Given the description of an element on the screen output the (x, y) to click on. 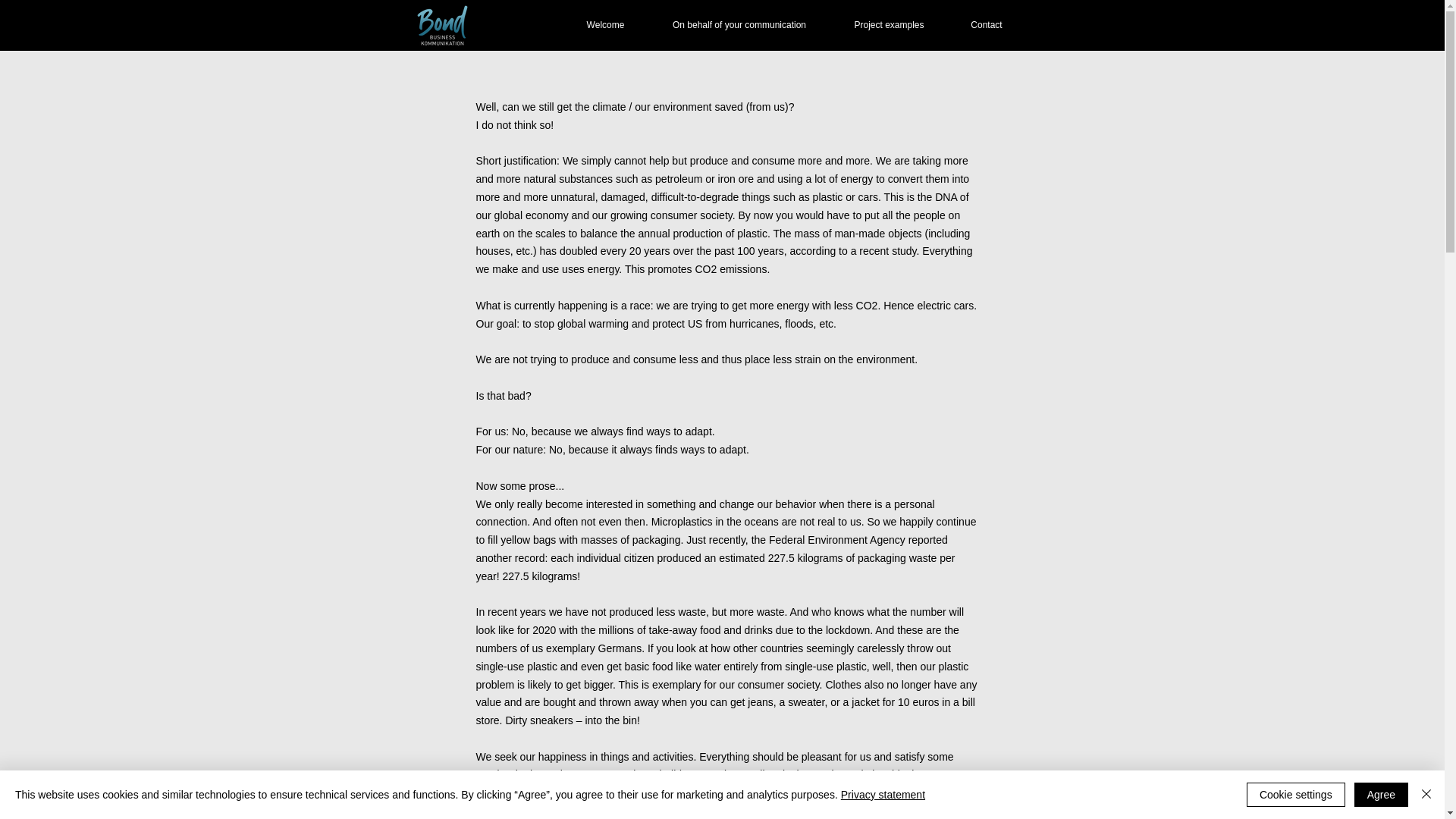
Welcome (604, 24)
Privacy statement (882, 794)
Agree (1380, 794)
Project examples (889, 24)
Cookie settings (1295, 794)
Contact (986, 24)
On behalf of your communication (738, 24)
